Given the description of an element on the screen output the (x, y) to click on. 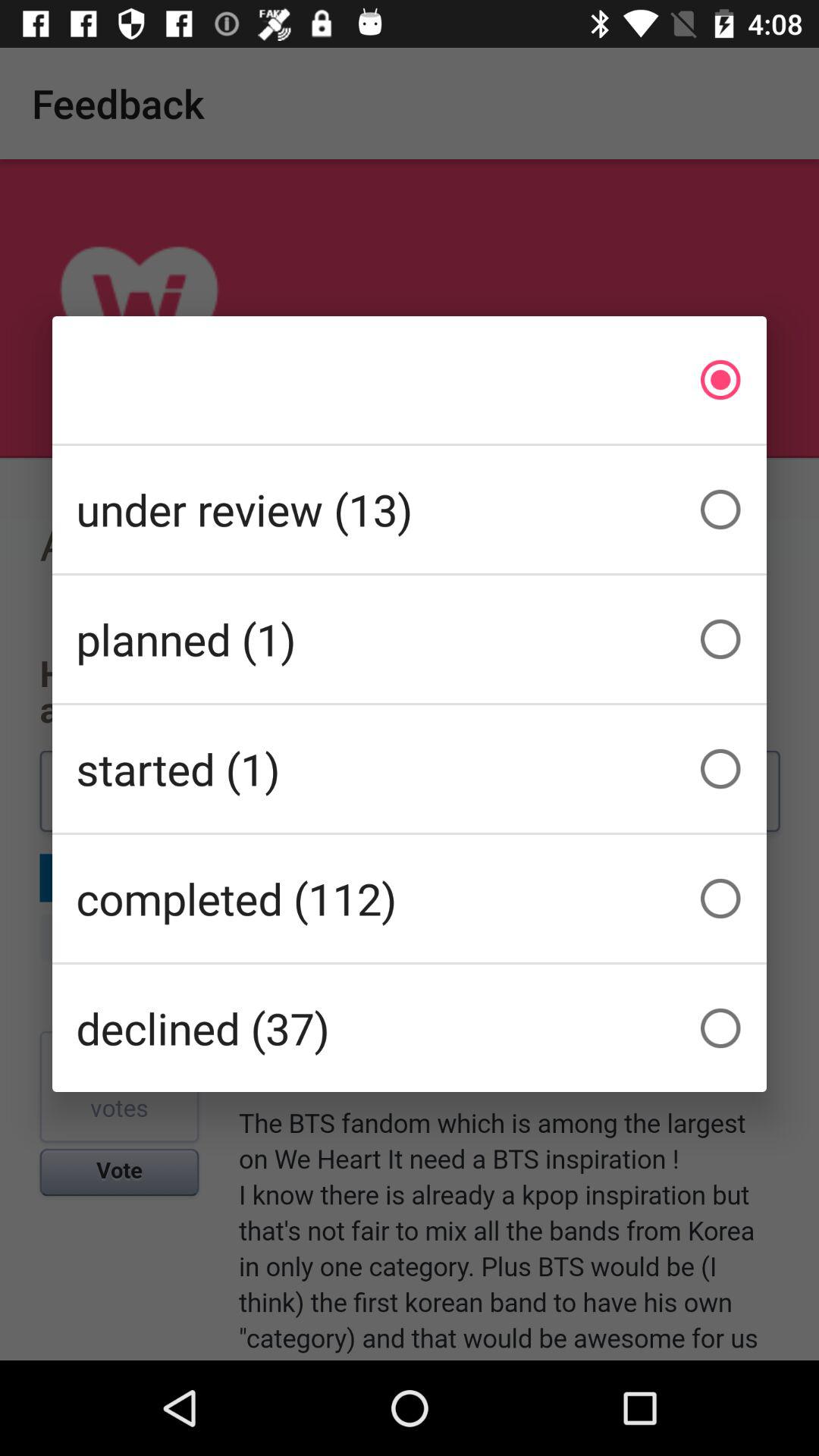
select the icon above declined (37) (409, 898)
